Given the description of an element on the screen output the (x, y) to click on. 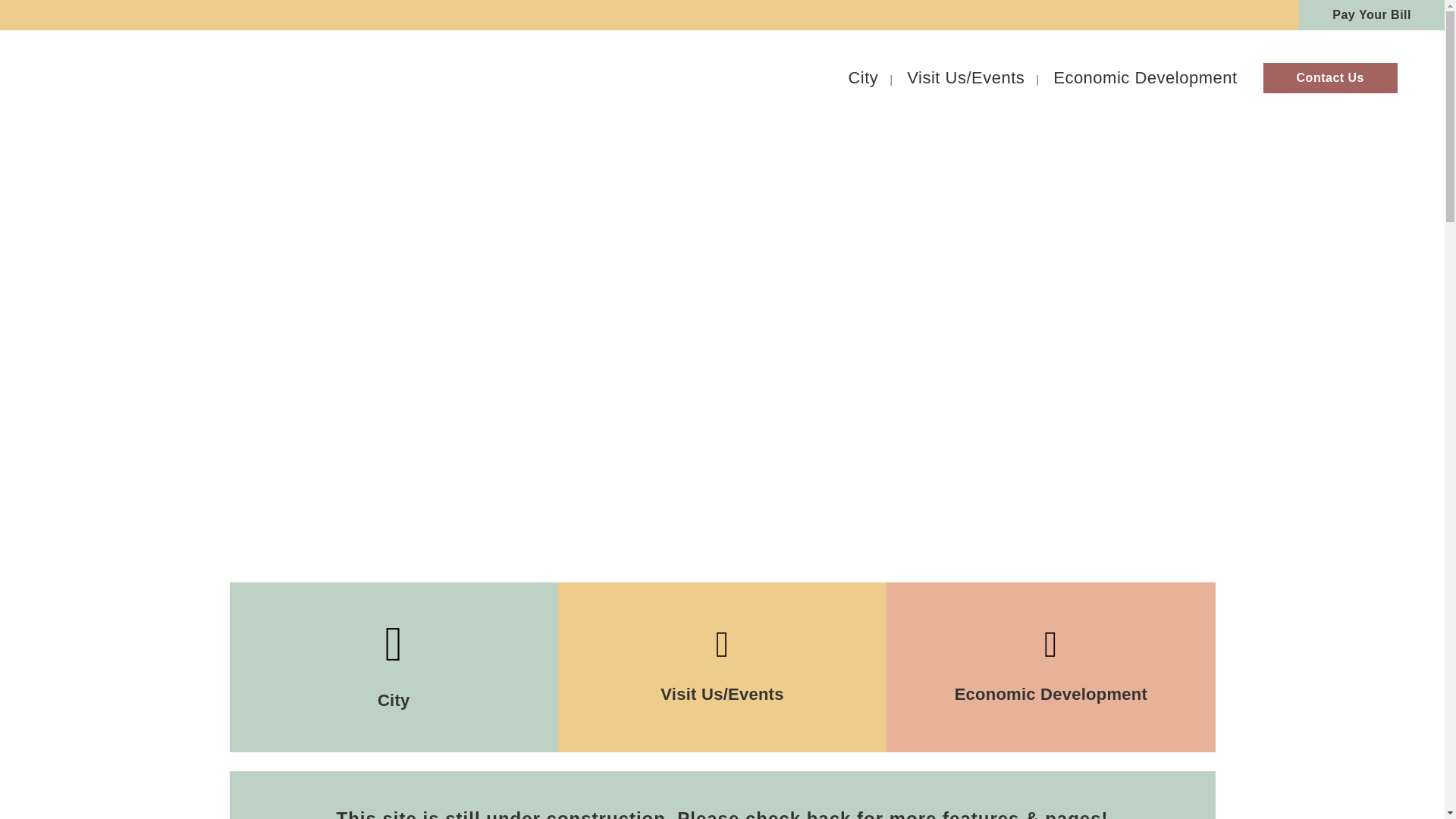
Contact Us (1330, 77)
Economic Development (1145, 77)
